Given the description of an element on the screen output the (x, y) to click on. 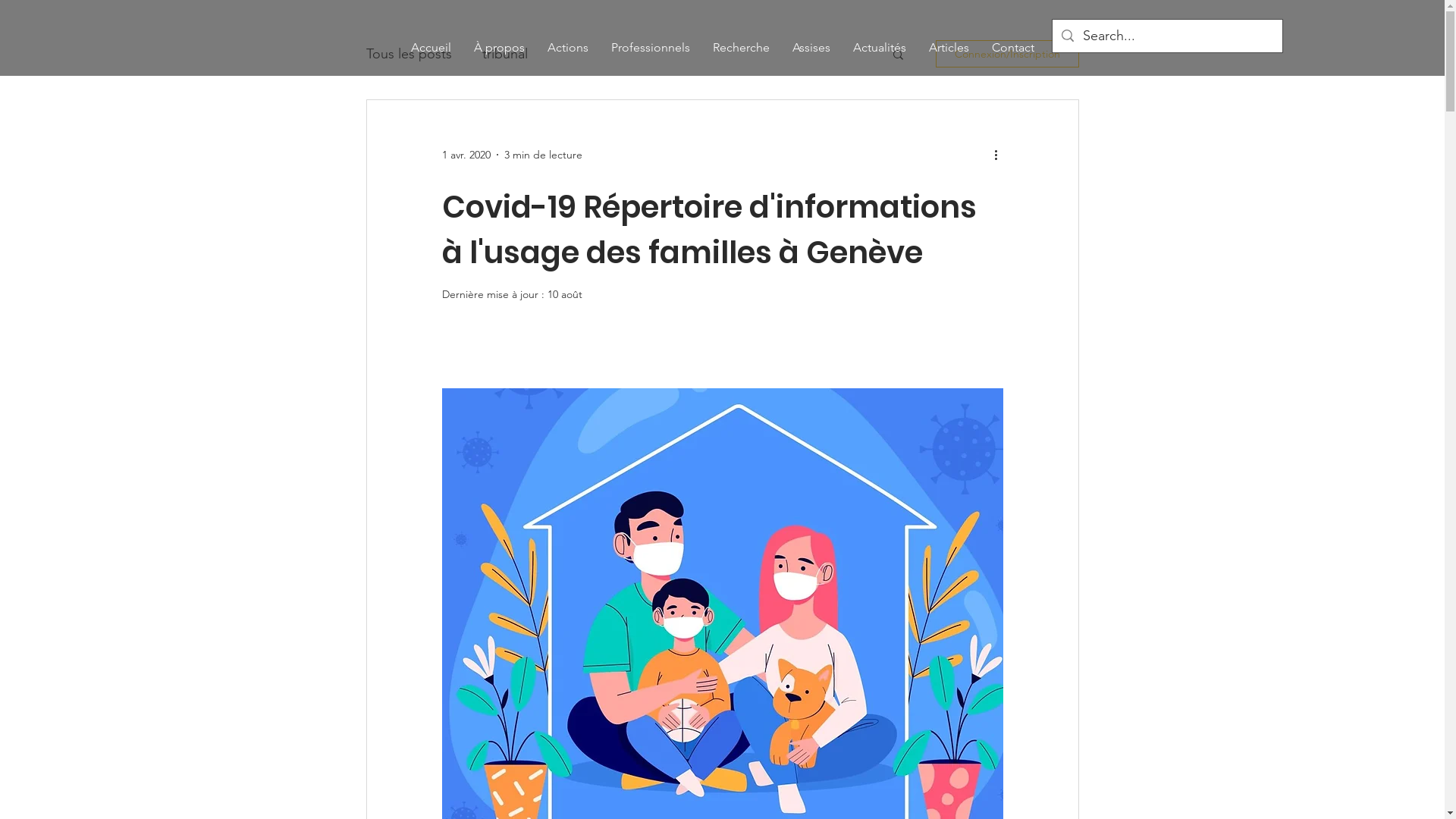
Actions Element type: text (567, 46)
Recherche Element type: text (740, 46)
Contact Element type: text (1011, 46)
Articles Element type: text (948, 46)
tribunal Element type: text (504, 53)
Professionnels Element type: text (649, 46)
Assises Element type: text (811, 46)
Accueil Element type: text (429, 46)
Connexion/Inscription Element type: text (1007, 53)
Tous les posts Element type: text (408, 53)
